Given the description of an element on the screen output the (x, y) to click on. 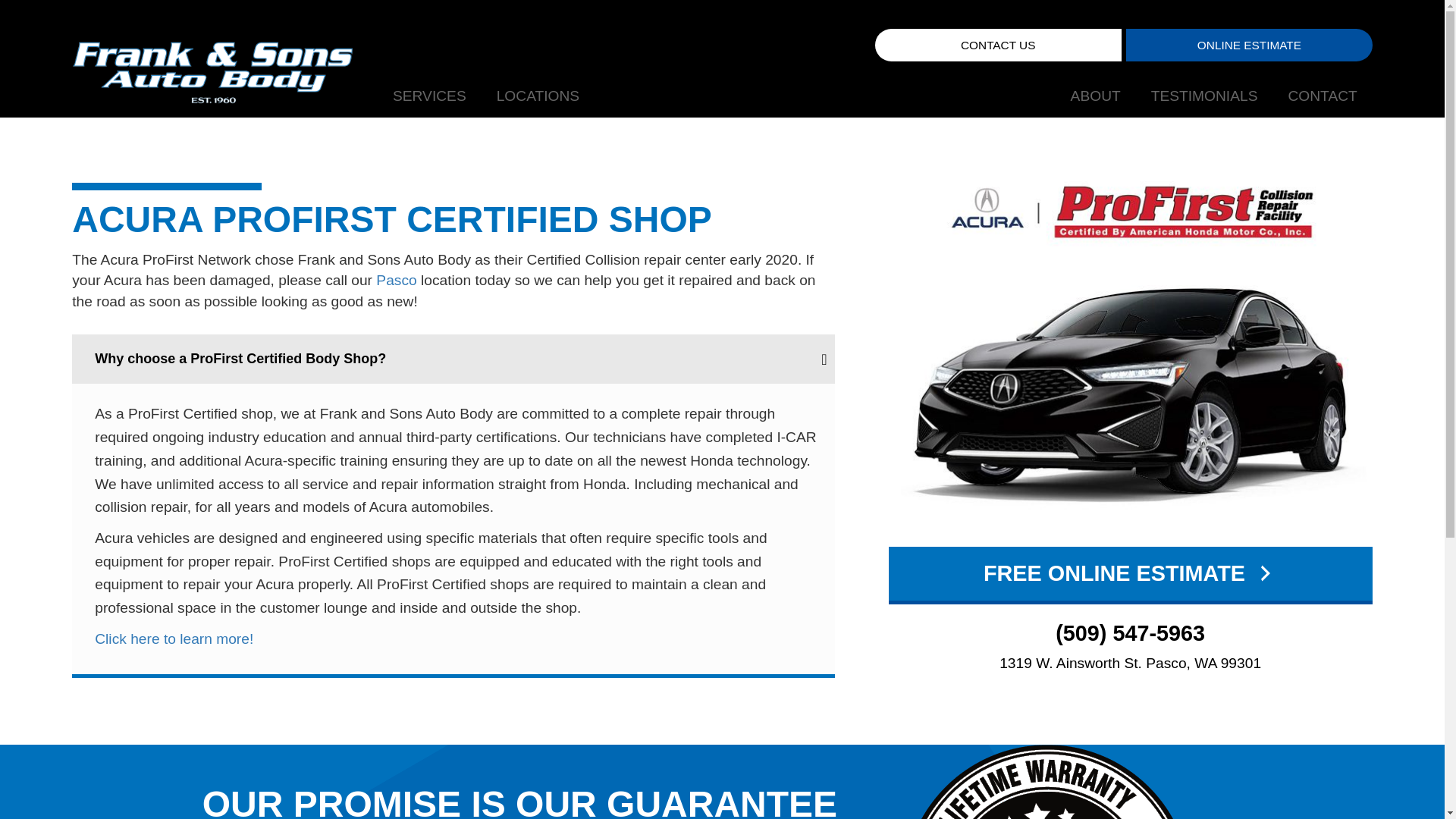
acura-car (875, 96)
ONLINE ESTIMATE (1130, 397)
CONTACT US (1249, 44)
SERVICES (998, 44)
Acura-ProFirst-Certified (429, 96)
lifetime-warranty (1130, 211)
